Given the description of an element on the screen output the (x, y) to click on. 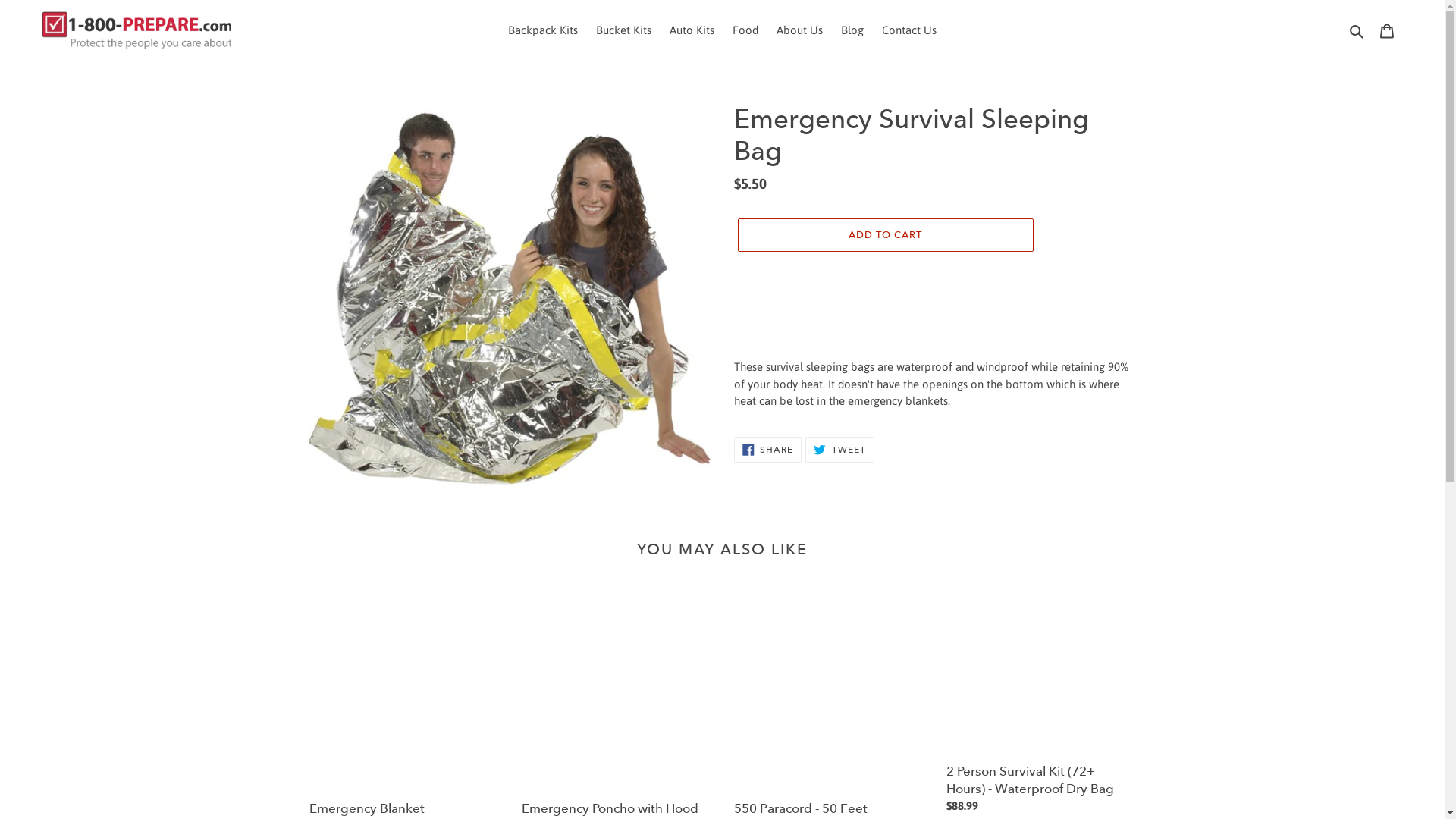
About Us Element type: text (799, 30)
Contact Us Element type: text (909, 30)
Search Element type: text (1357, 30)
SHARE
SHARE ON FACEBOOK Element type: text (768, 449)
Bucket Kits Element type: text (623, 30)
Backpack Kits Element type: text (542, 30)
ADD TO CART Element type: text (884, 234)
Auto Kits Element type: text (691, 30)
Food Element type: text (744, 30)
TWEET
TWEET ON TWITTER Element type: text (839, 449)
Blog Element type: text (852, 30)
Cart Element type: text (1386, 29)
